Given the description of an element on the screen output the (x, y) to click on. 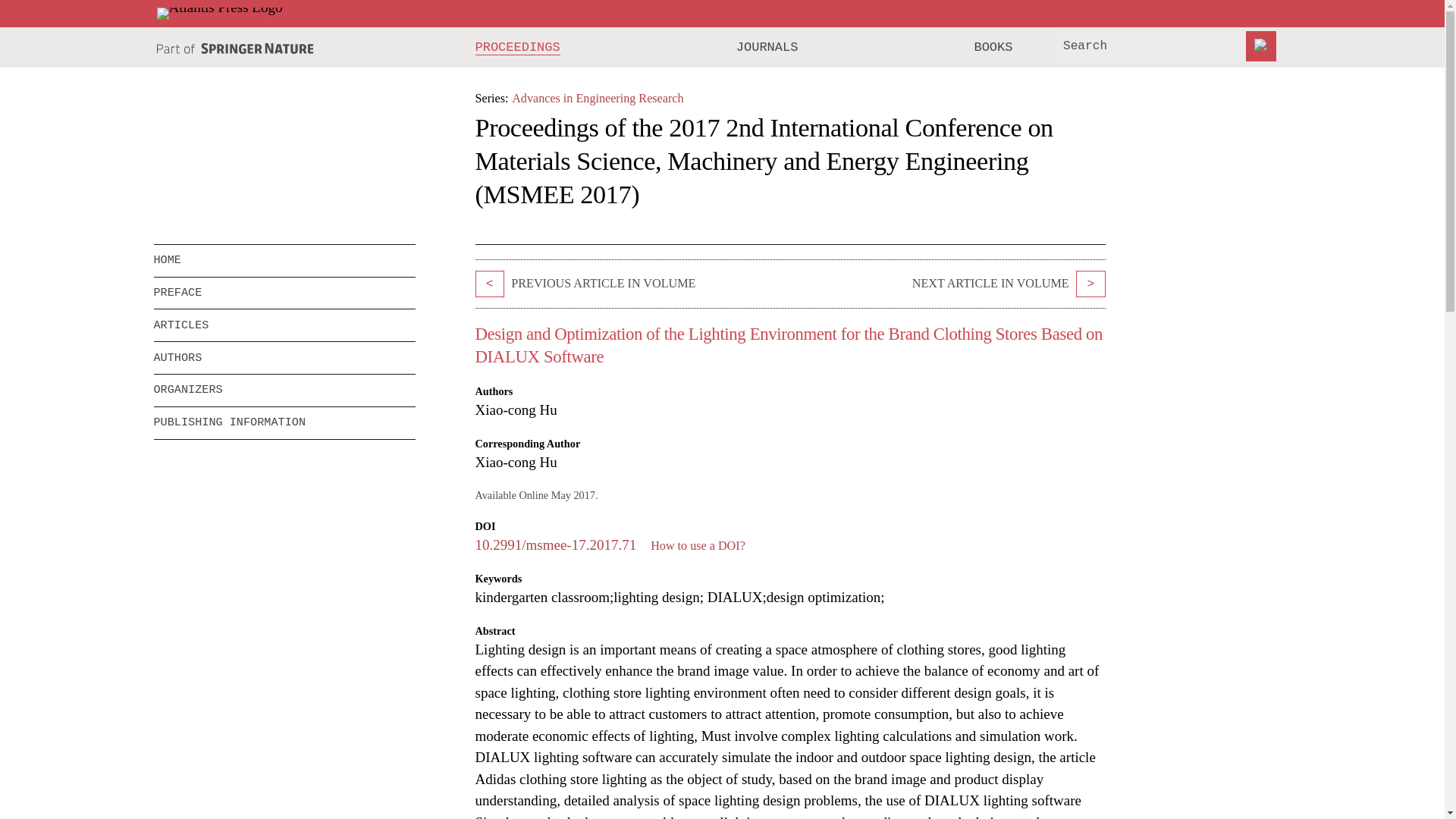
JOURNALS (767, 47)
AUTHORS (283, 357)
Atlantis Press (218, 13)
BOOKS (992, 47)
Dynamic Sensitivity Analyses of Projectile Muzzle Velocities (1090, 284)
ARTICLES (283, 325)
ORGANIZERS (283, 390)
PUBLISHING INFORMATION (283, 422)
HOME (283, 260)
Advances in Engineering Research (597, 97)
PREFACE (283, 293)
How to use a DOI? (697, 545)
Atlantis Press is Part of Springer Nature (234, 48)
PROCEEDINGS (518, 47)
